Given the description of an element on the screen output the (x, y) to click on. 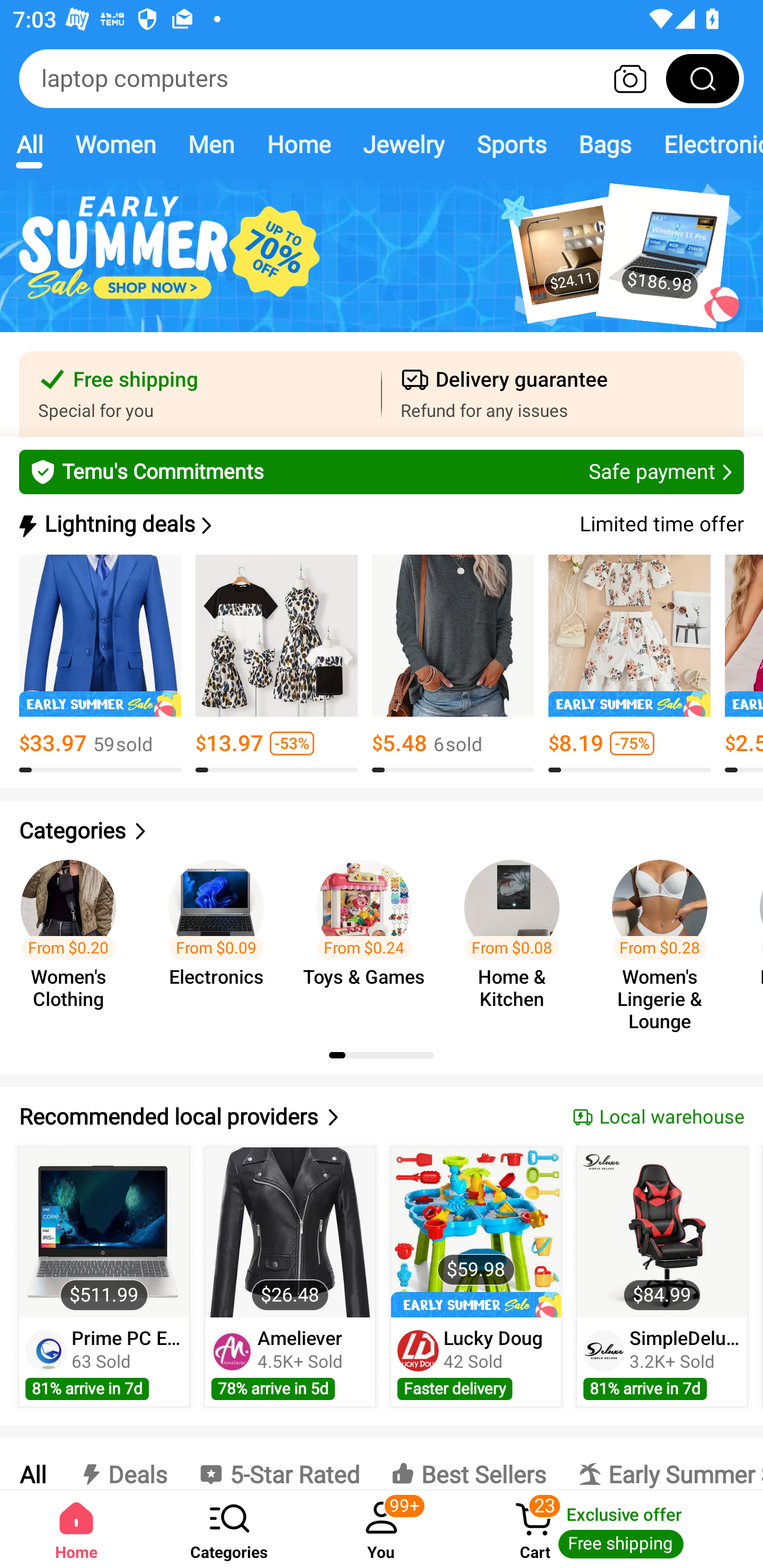
laptop computers (381, 78)
All (29, 144)
Women (115, 144)
Men (211, 144)
Home (298, 144)
Jewelry (403, 144)
Sports (511, 144)
Bags (605, 144)
Electronics (705, 144)
$24.11 $186.98 (381, 265)
Free shipping Special for you (200, 394)
Delivery guarantee Refund for any issues (562, 394)
Temu's Commitments (381, 471)
Lightning deals Lightning deals Limited time offer (379, 524)
$33.97 59￼sold 8.0 (100, 664)
$13.97 -53% 8.0 (276, 664)
$5.48 6￼sold 8.0 (453, 664)
$8.19 -75% 8.0 (629, 664)
Categories (381, 830)
From $0.20 Women's Clothing (74, 936)
From $0.09 Electronics (222, 936)
From $0.24 Toys & Games (369, 936)
From $0.08 Home & Kitchen (517, 936)
From $0.28 Women's Lingerie & Lounge (665, 936)
$511.99 Prime PC Emporium 63 Sold 81% arrive in 7d (103, 1276)
$26.48 Ameliever 4.5K+ Sold 78% arrive in 5d (289, 1276)
$59.98 Lucky Doug 42 Sold Faster delivery (475, 1276)
$511.99 (104, 1232)
$26.48 (290, 1232)
$59.98 (475, 1232)
$84.99 (661, 1232)
All (32, 1463)
Deals Deals Deals (122, 1463)
5-Star Rated 5-Star Rated 5-Star Rated (279, 1463)
Best Sellers Best Sellers Best Sellers (468, 1463)
Home (76, 1528)
Categories (228, 1528)
You ‎99+‎ You (381, 1528)
Cart 23 Cart Exclusive offer (610, 1528)
